Given the description of an element on the screen output the (x, y) to click on. 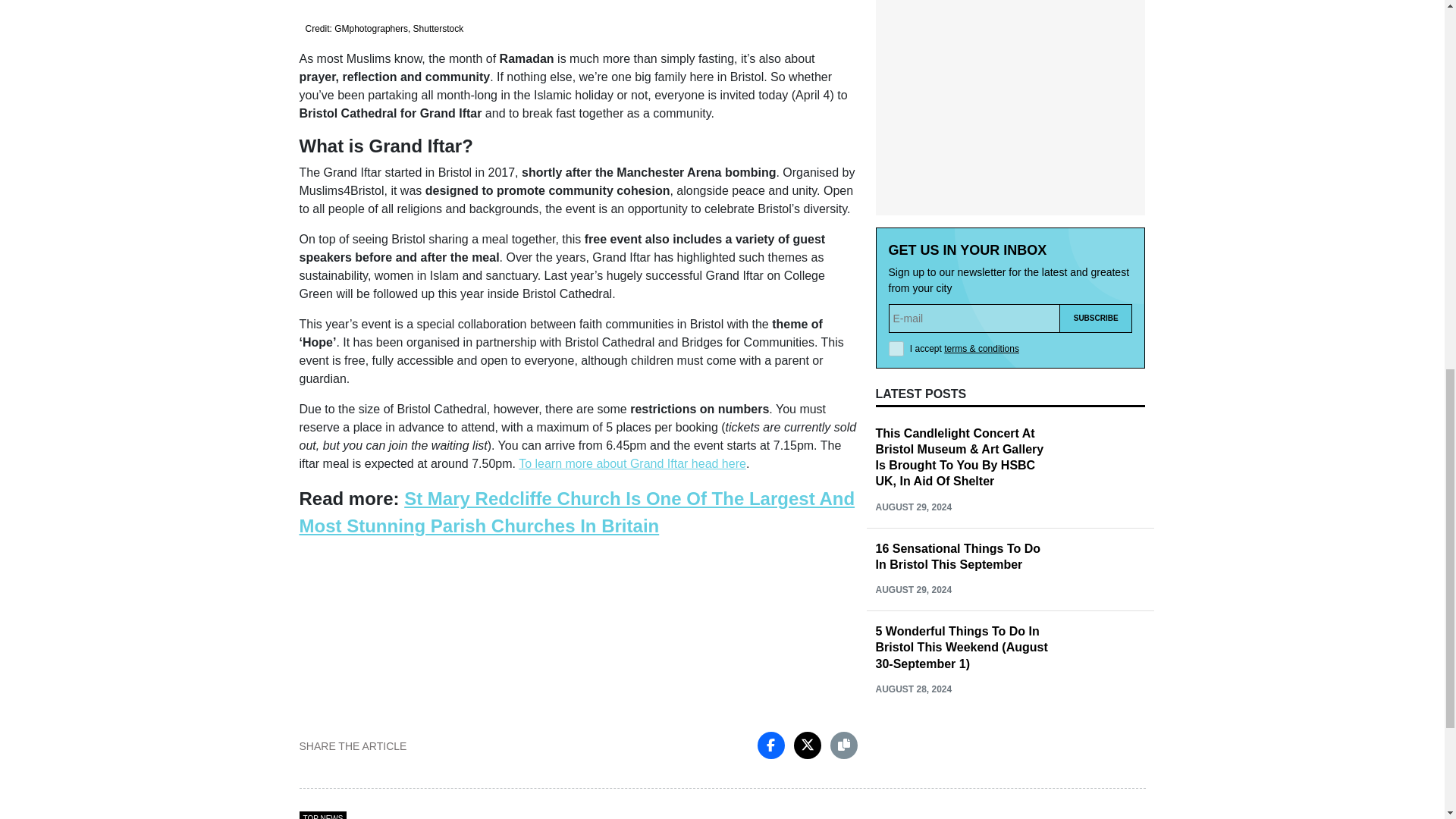
TOP NEWS (322, 815)
AUGUST 29, 2024 (913, 507)
AUGUST 29, 2024 (913, 589)
To learn more about Grand Iftar head here (631, 463)
Subscribe (1095, 318)
Subscribe (1095, 318)
16 Sensational Things To Do In Bristol This September (958, 556)
1 (896, 348)
AUGUST 28, 2024 (913, 688)
